Given the description of an element on the screen output the (x, y) to click on. 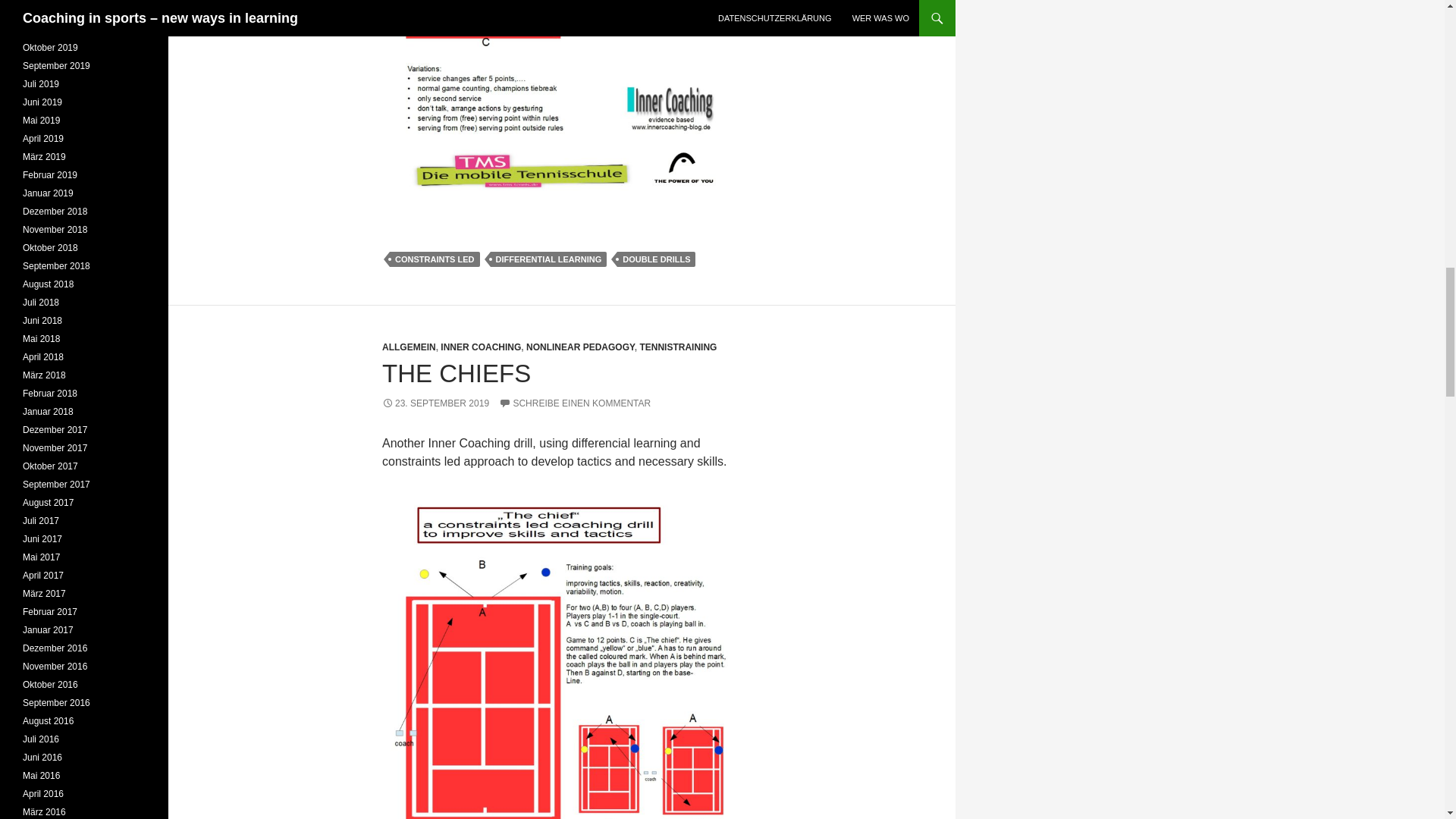
NONLINEAR PEDAGOGY (579, 347)
23. SEPTEMBER 2019 (435, 403)
CONSTRAINTS LED (435, 258)
TENNISTRAINING (677, 347)
INNER COACHING (481, 347)
THE CHIEFS (456, 373)
DOUBLE DRILLS (656, 258)
DIFFERENTIAL LEARNING (548, 258)
ALLGEMEIN (408, 347)
